Given the description of an element on the screen output the (x, y) to click on. 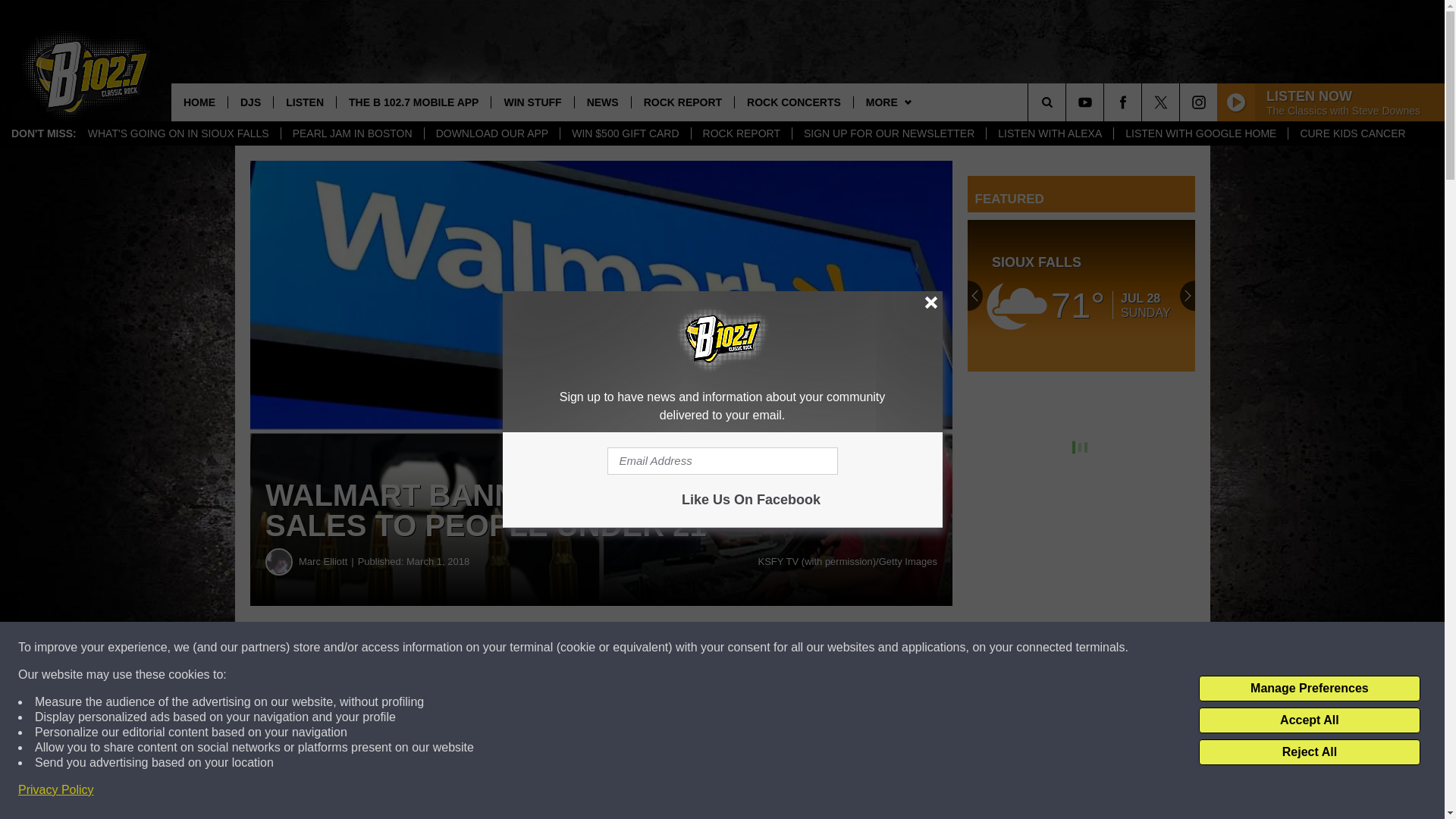
LISTEN WITH GOOGLE HOME (1200, 133)
CURE KIDS CANCER (1351, 133)
Privacy Policy (55, 789)
SEARCH (1068, 102)
LISTEN (304, 102)
WHAT'S GOING ON IN SIOUX FALLS (179, 133)
SEARCH (1068, 102)
DOWNLOAD OUR APP (491, 133)
SIGN UP FOR OUR NEWSLETTER (888, 133)
Email Address (722, 461)
Share on Twitter (741, 647)
Manage Preferences (1309, 688)
Sioux Falls Weather (1081, 295)
DJS (250, 102)
LISTEN WITH ALEXA (1049, 133)
